Given the description of an element on the screen output the (x, y) to click on. 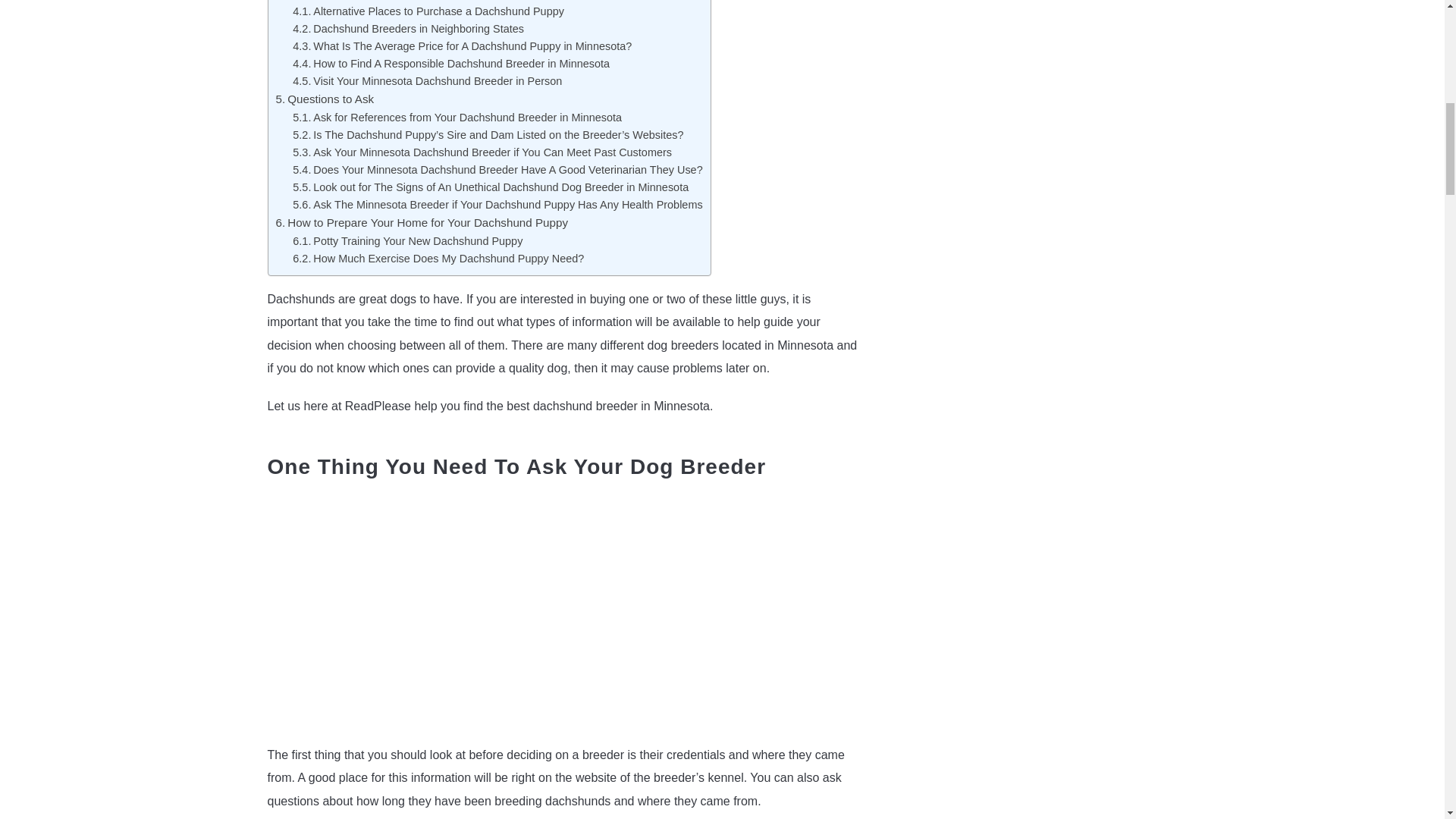
Alternative Places to Purchase a Dachshund Puppy (428, 10)
Dachshund Breeders in Neighboring States (408, 28)
How to Find A Responsible Dachshund Breeder in Minnesota (451, 63)
Questions to Ask (325, 98)
Potty Training Your New Dachshund Puppy (407, 241)
